Given the description of an element on the screen output the (x, y) to click on. 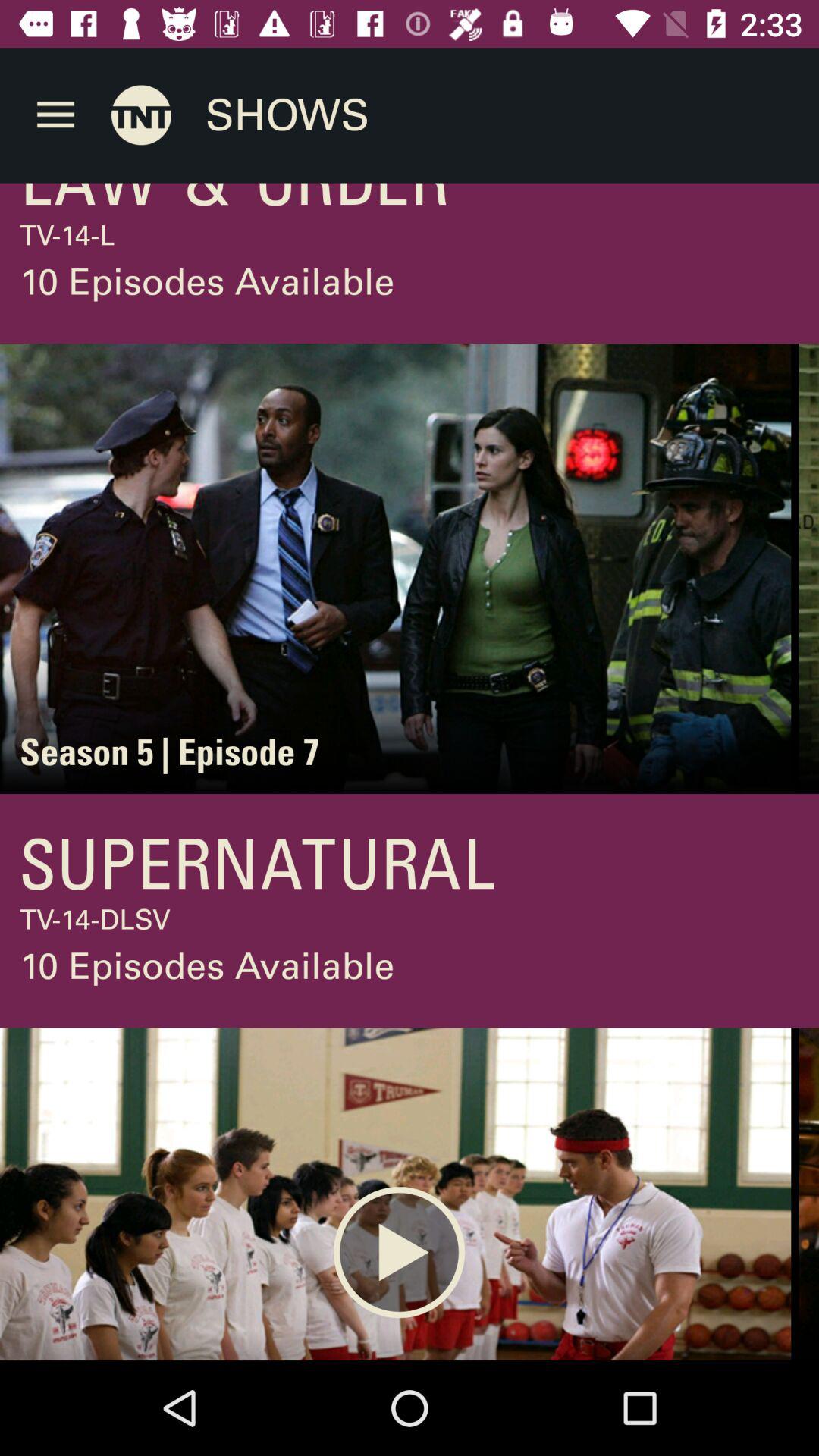
press item above the law & order icon (55, 115)
